Given the description of an element on the screen output the (x, y) to click on. 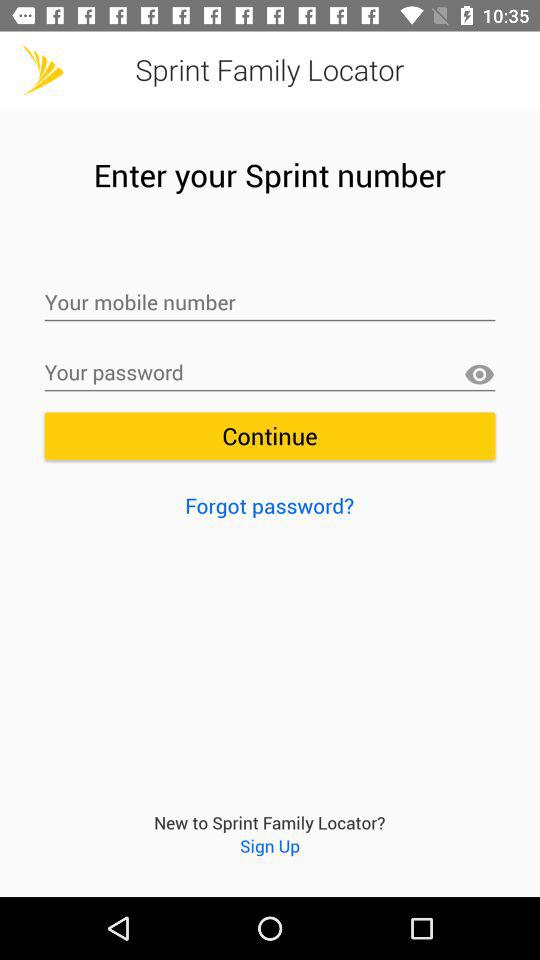
turn off the icon above the new to sprint icon (269, 505)
